Given the description of an element on the screen output the (x, y) to click on. 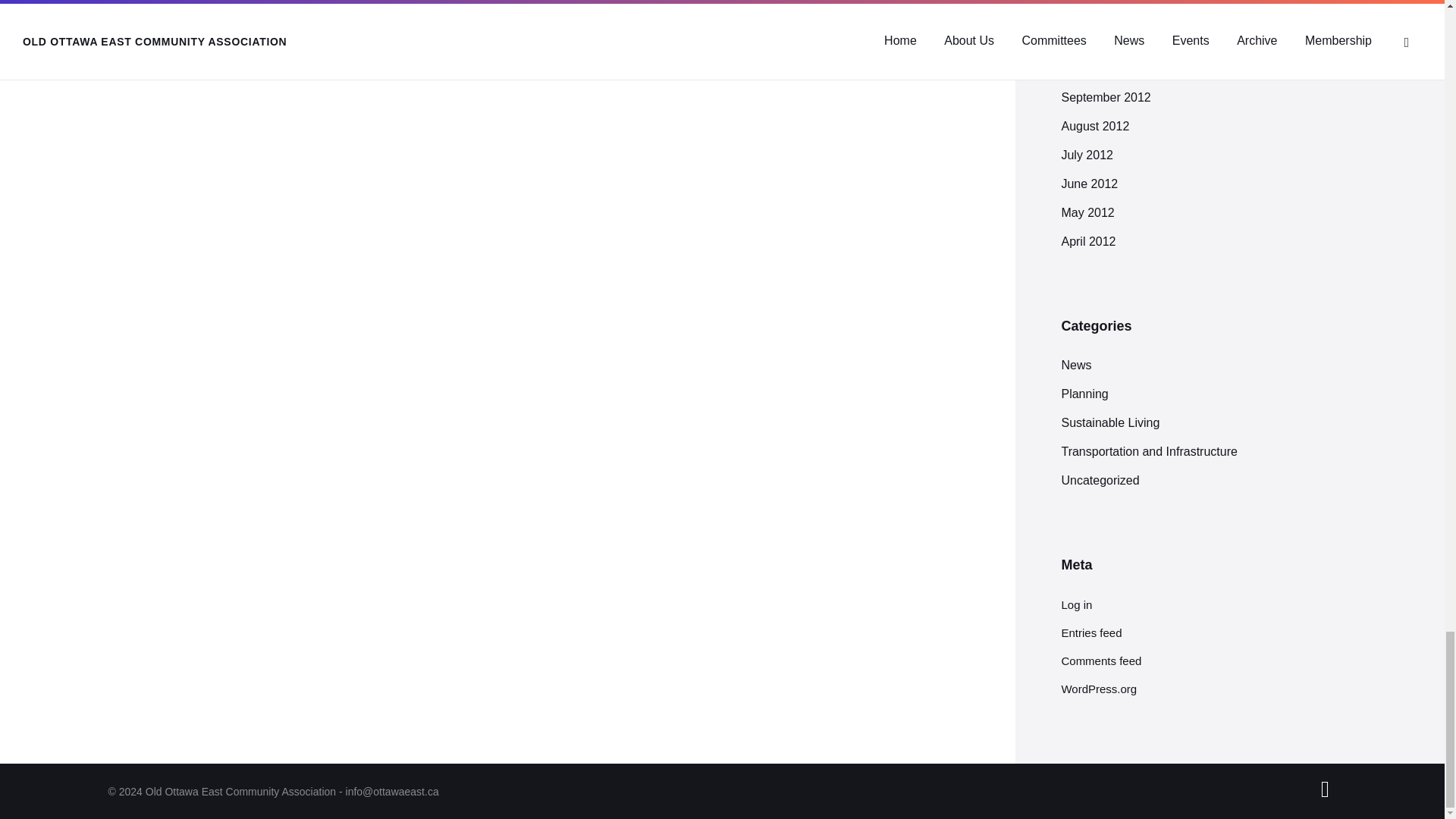
Back to top (1324, 789)
